Given the description of an element on the screen output the (x, y) to click on. 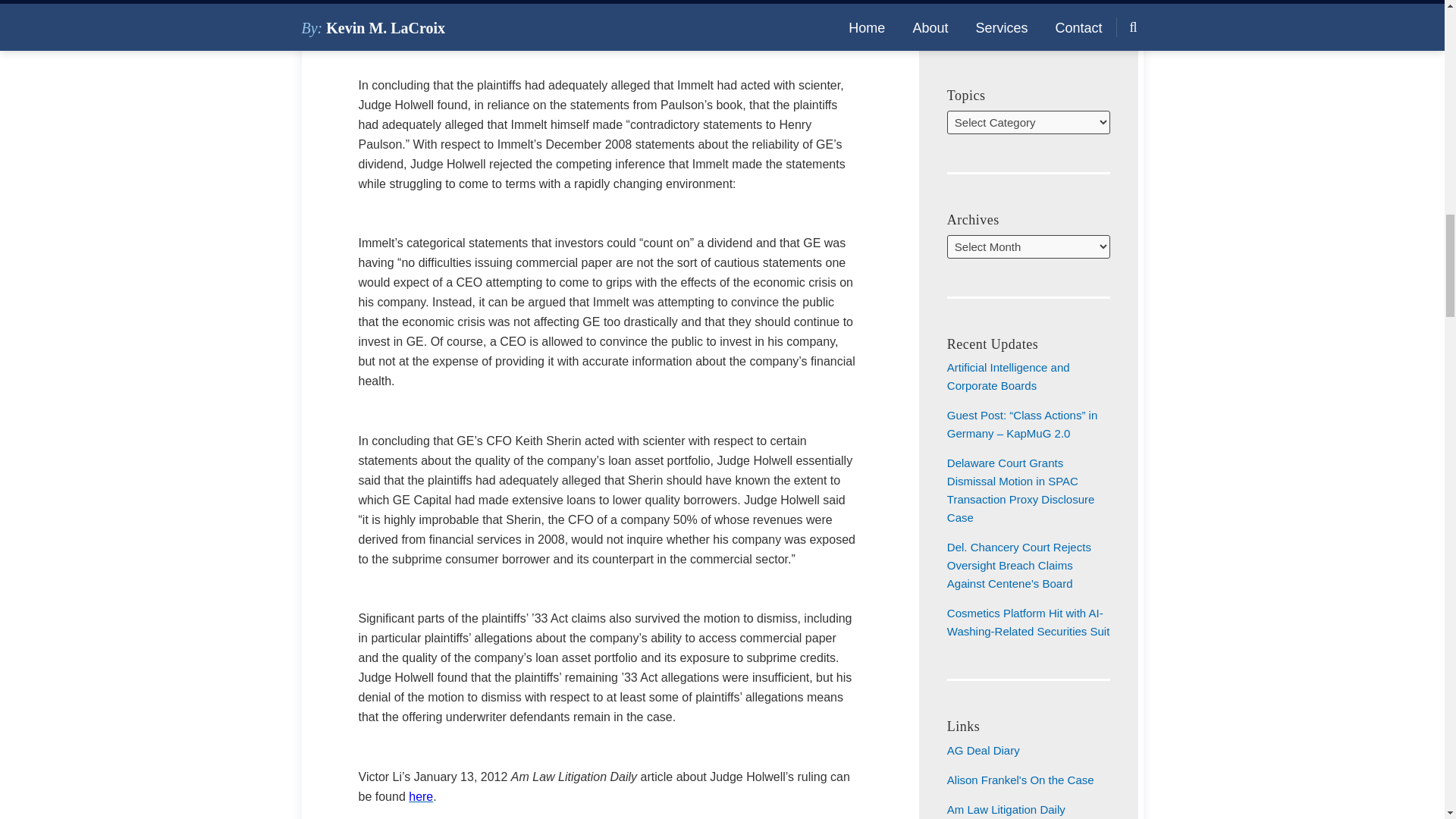
here (420, 796)
Subscribe (1028, 2)
